Given the description of an element on the screen output the (x, y) to click on. 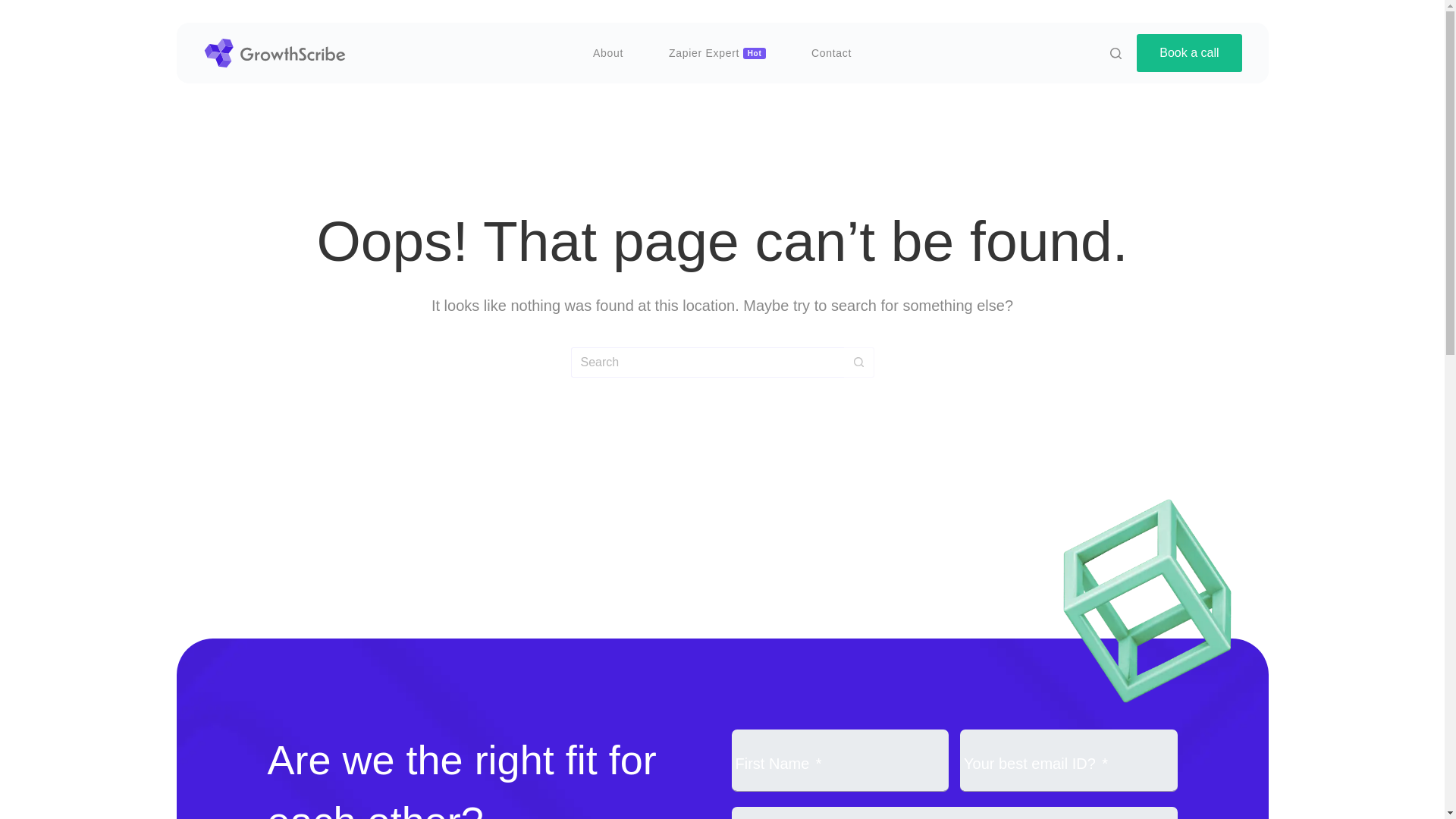
Search for... (706, 362)
Contact (832, 52)
Skip to content (15, 7)
Book a call (1189, 53)
About (608, 52)
